Given the description of an element on the screen output the (x, y) to click on. 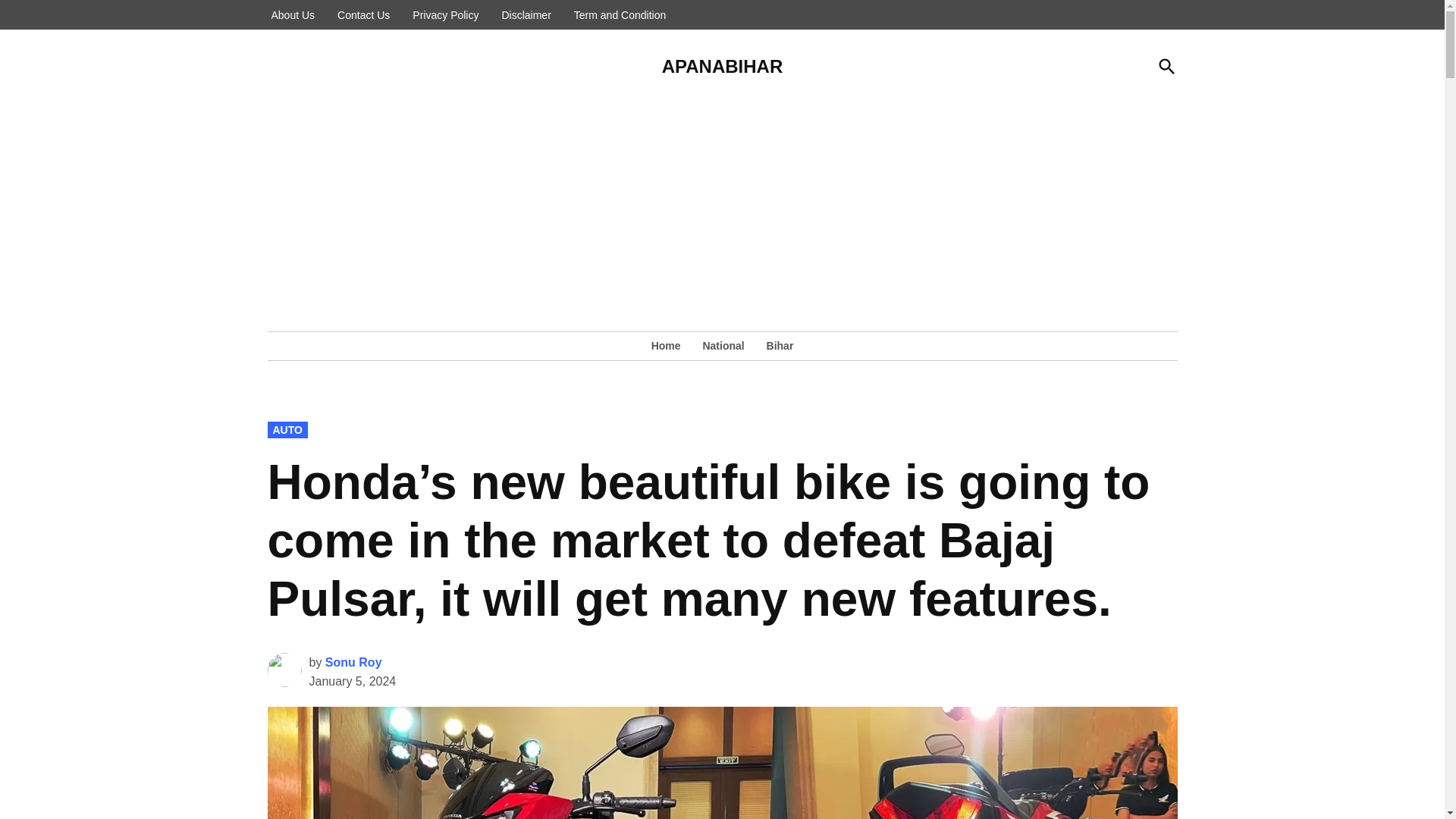
Term and Condition (619, 14)
Privacy Policy (445, 14)
Home (669, 345)
AUTO (286, 429)
Contact Us (363, 14)
Disclaimer (525, 14)
Sonu Roy (352, 662)
National (722, 345)
Bihar (775, 345)
About Us (292, 14)
APANABIHAR (722, 66)
